Given the description of an element on the screen output the (x, y) to click on. 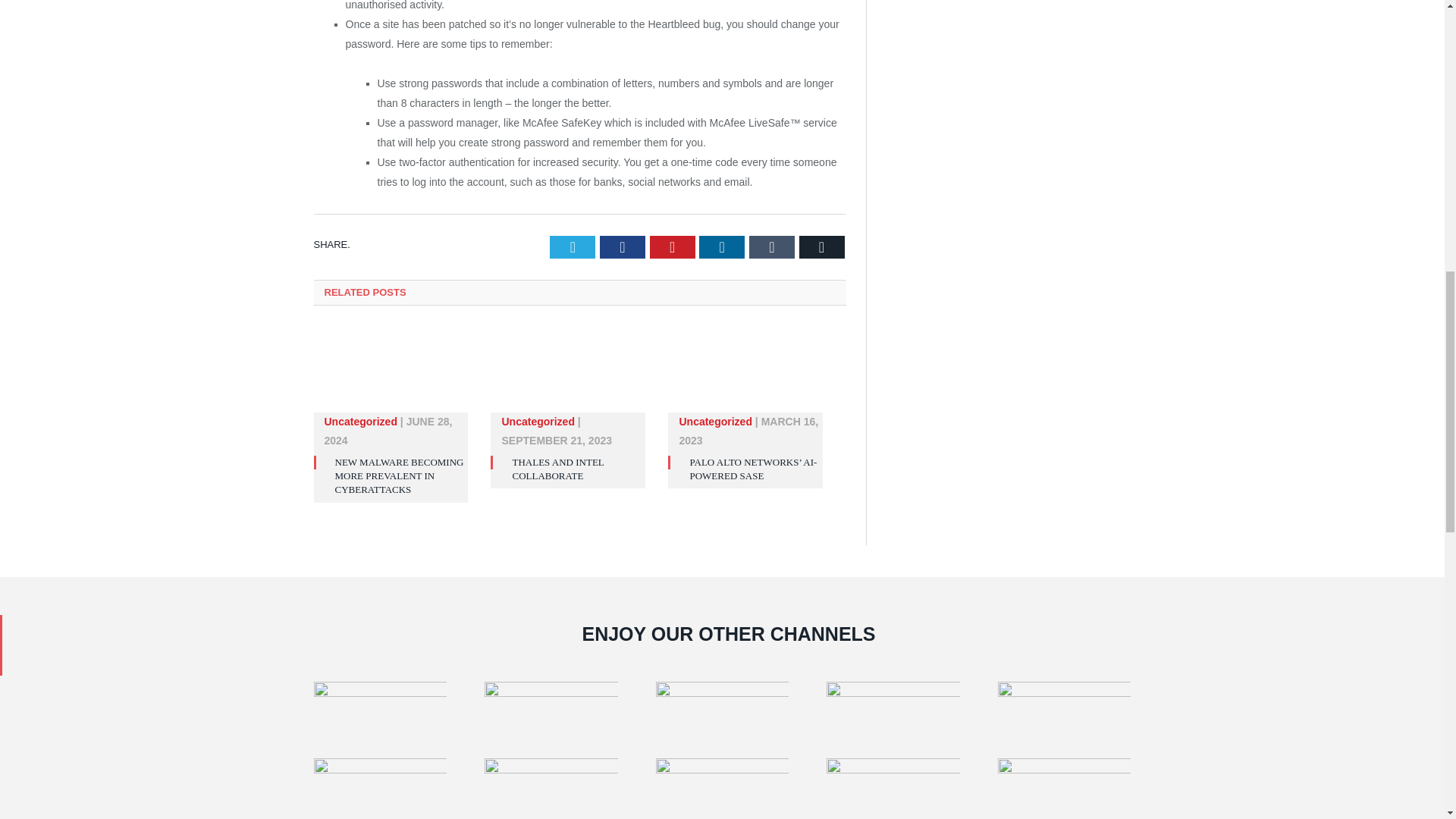
New Malware Becoming More Prevalent in Cyberattacks (391, 376)
Tweet It (572, 246)
New Malware Becoming More Prevalent in Cyberattacks (399, 475)
Share on Tumblr (771, 246)
Share on Pinterest (672, 246)
Share on LinkedIn (721, 246)
Share via Email (821, 246)
Share on Facebook (622, 246)
